Given the description of an element on the screen output the (x, y) to click on. 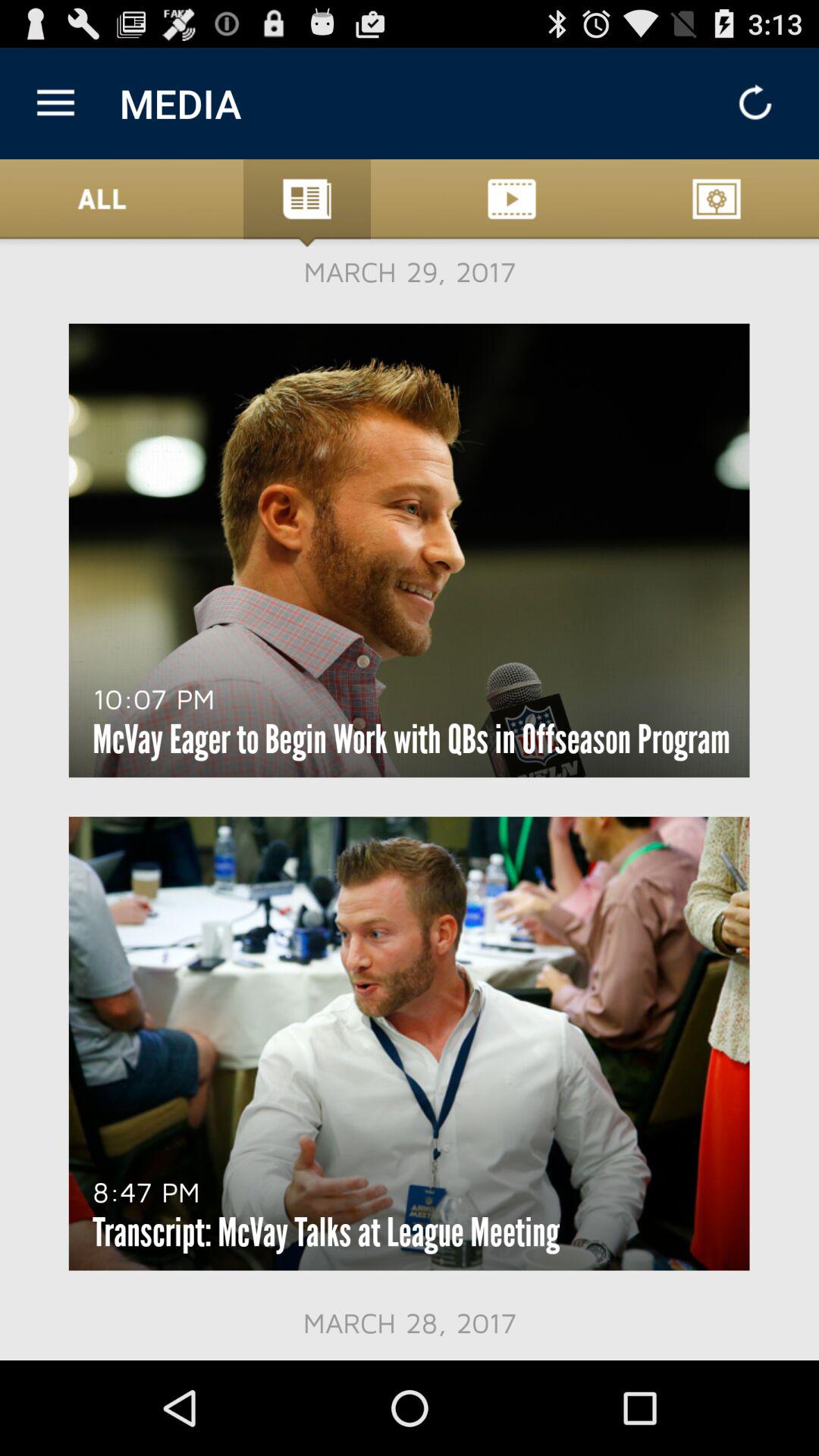
press the icon on the left (153, 698)
